Given the description of an element on the screen output the (x, y) to click on. 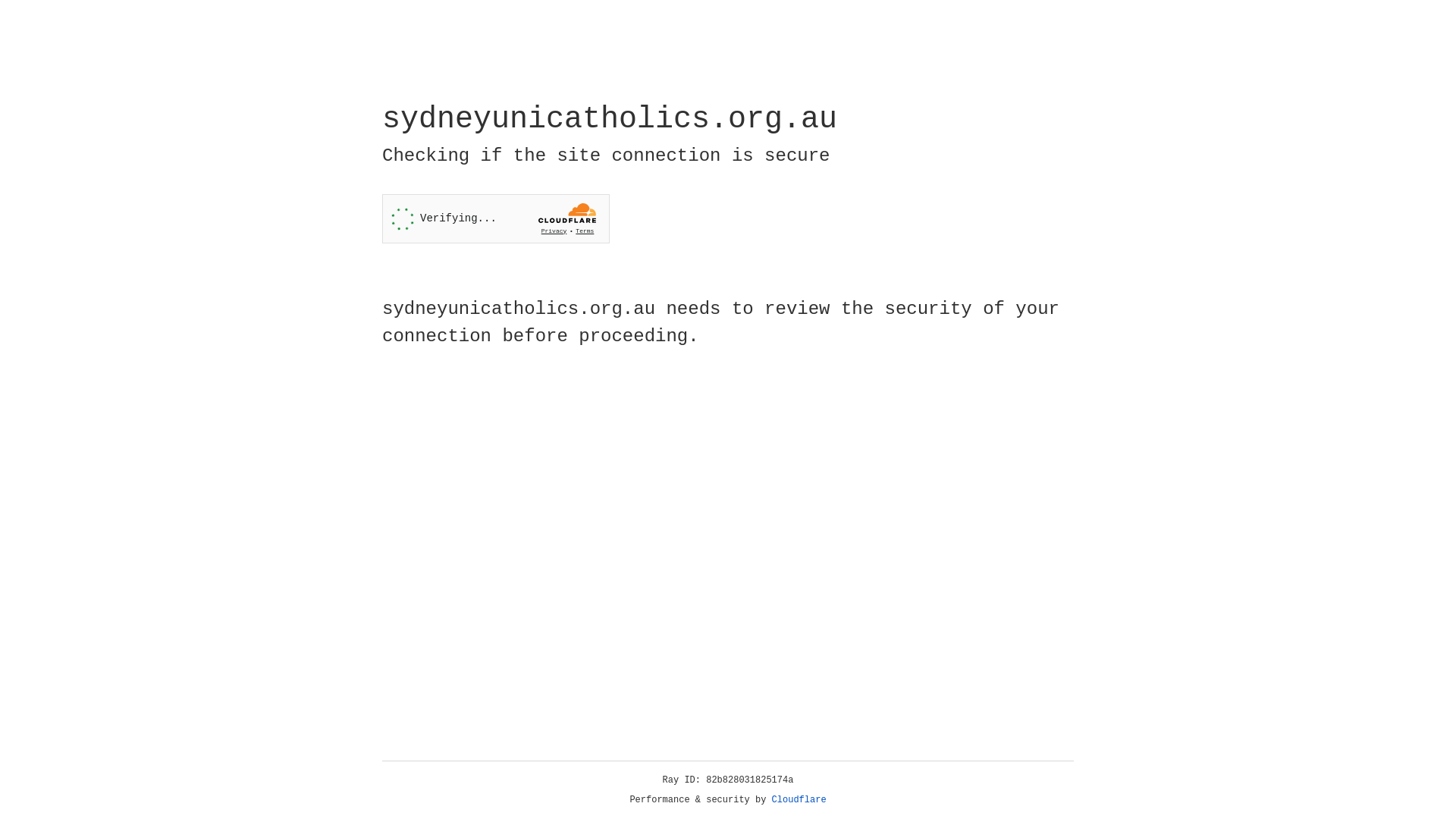
Widget containing a Cloudflare security challenge Element type: hover (495, 218)
Cloudflare Element type: text (798, 799)
